Given the description of an element on the screen output the (x, y) to click on. 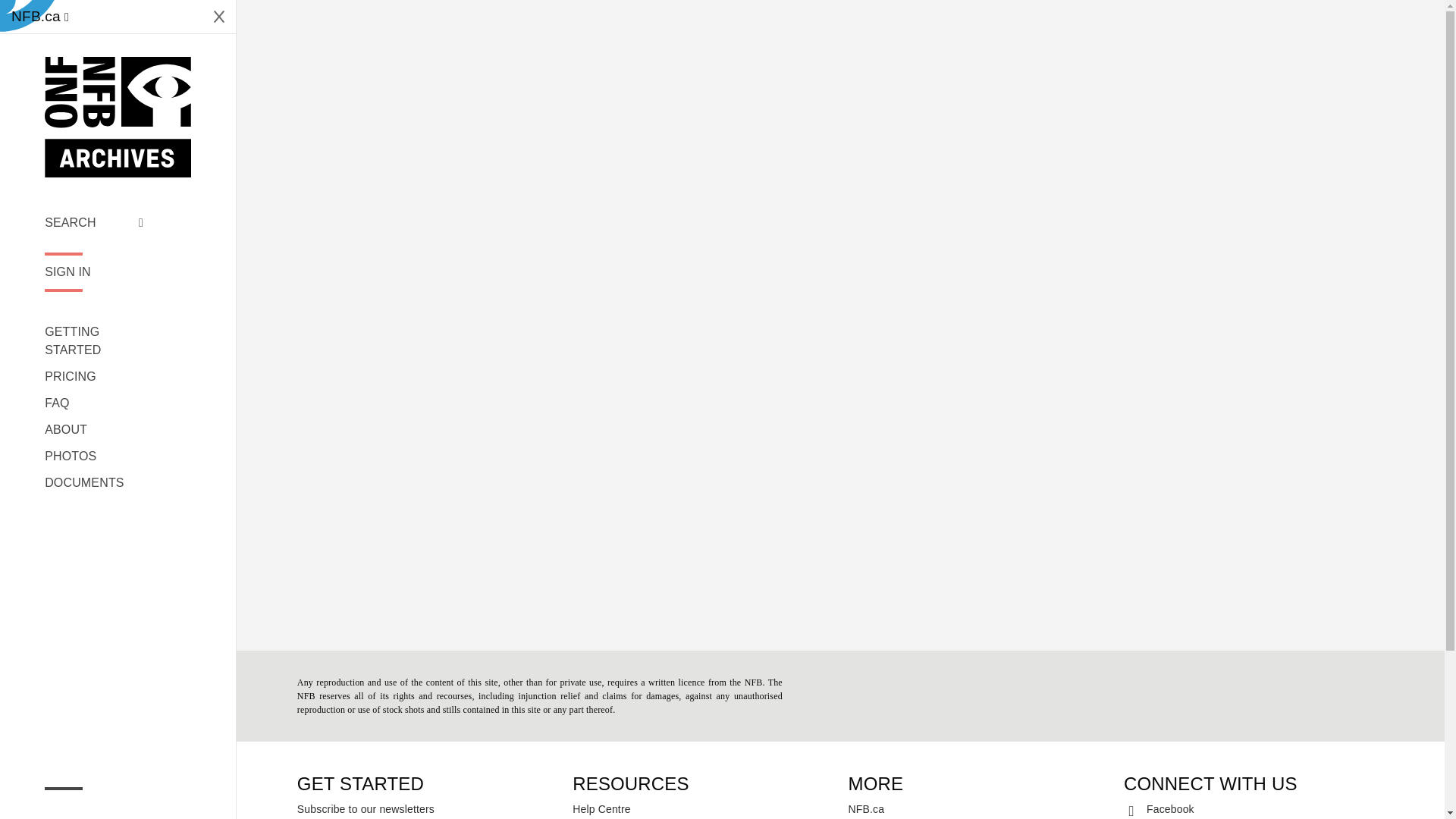
Help Centre (702, 808)
Facebook (1254, 808)
ABOUT (93, 429)
PHOTOS (93, 456)
NFB.ca (39, 16)
GETTING STARTED (93, 340)
PRICING (93, 376)
FAQ (93, 402)
Watch films on NFB.ca (39, 16)
SIGN IN (93, 271)
NFB.ca (978, 808)
SEARCH (93, 222)
National Film Board of Canada (117, 116)
Subscribe to our newsletters (427, 808)
DOCUMENTS (93, 483)
